Given the description of an element on the screen output the (x, y) to click on. 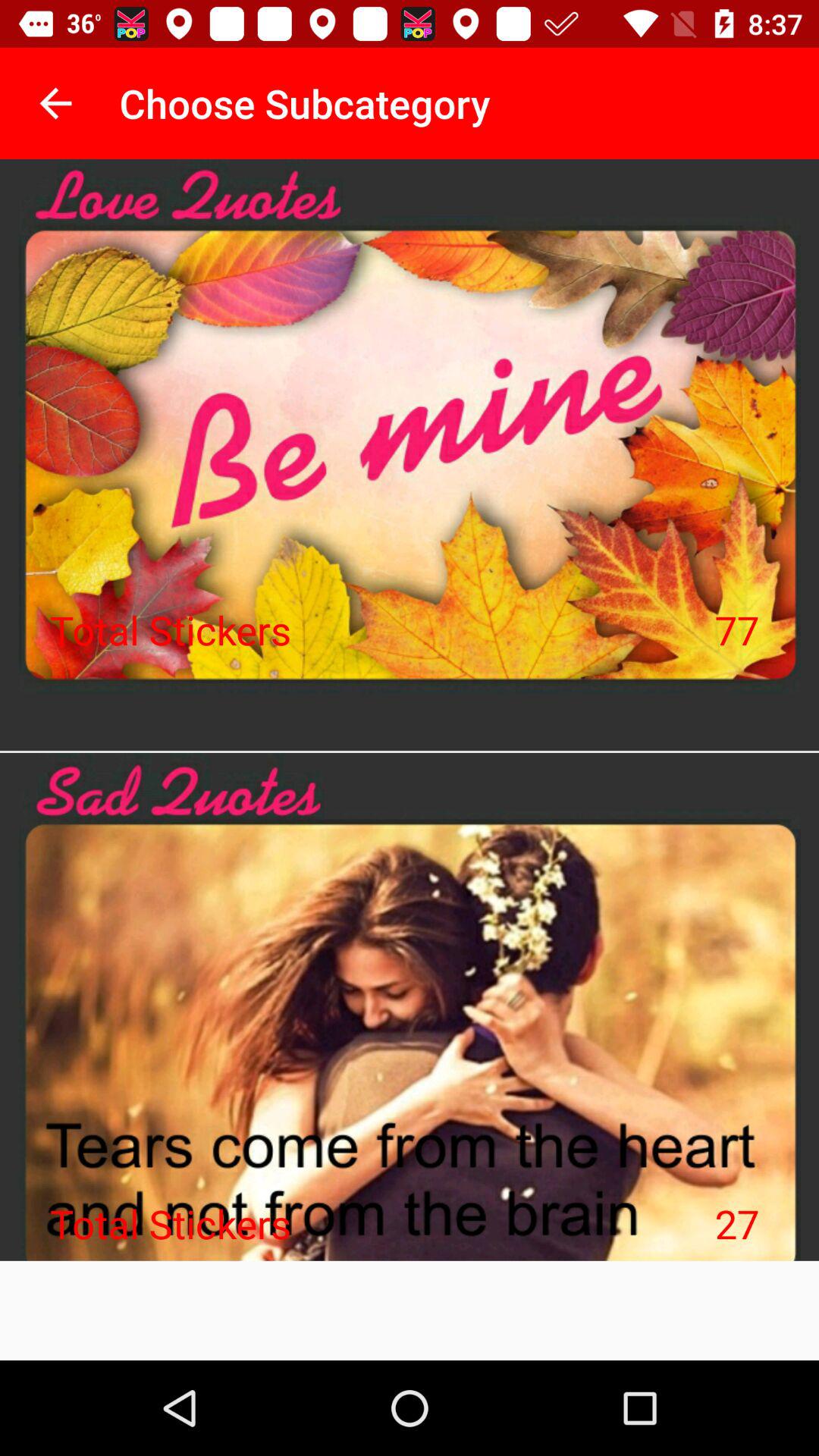
press icon to the right of the total stickers (736, 1223)
